Given the description of an element on the screen output the (x, y) to click on. 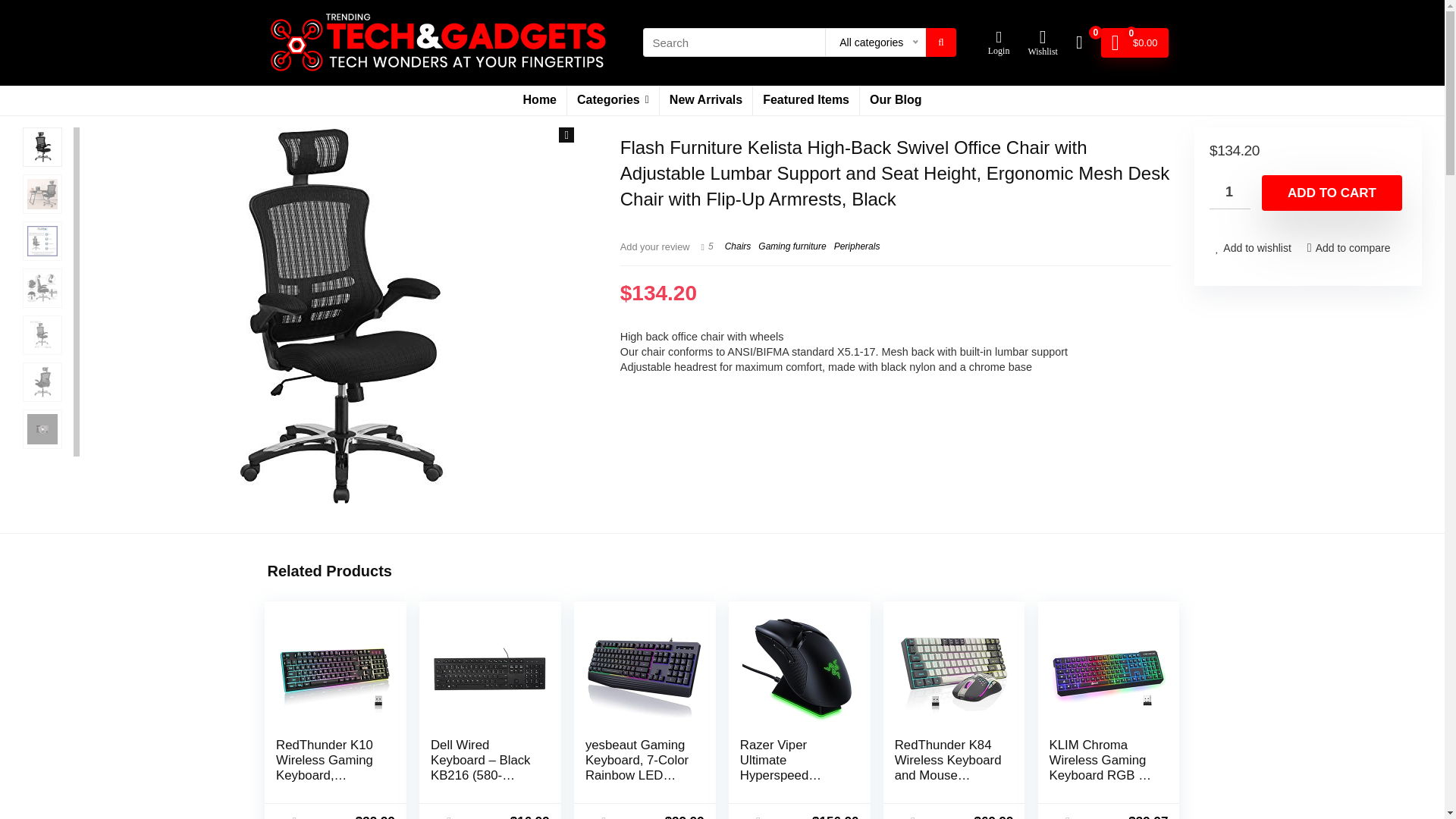
View all posts in Chairs (738, 245)
Add your review (655, 246)
Home (539, 100)
View all posts in Peripherals (857, 245)
1 (1229, 192)
Categories (613, 100)
View all posts in Gaming furniture (791, 245)
